Given the description of an element on the screen output the (x, y) to click on. 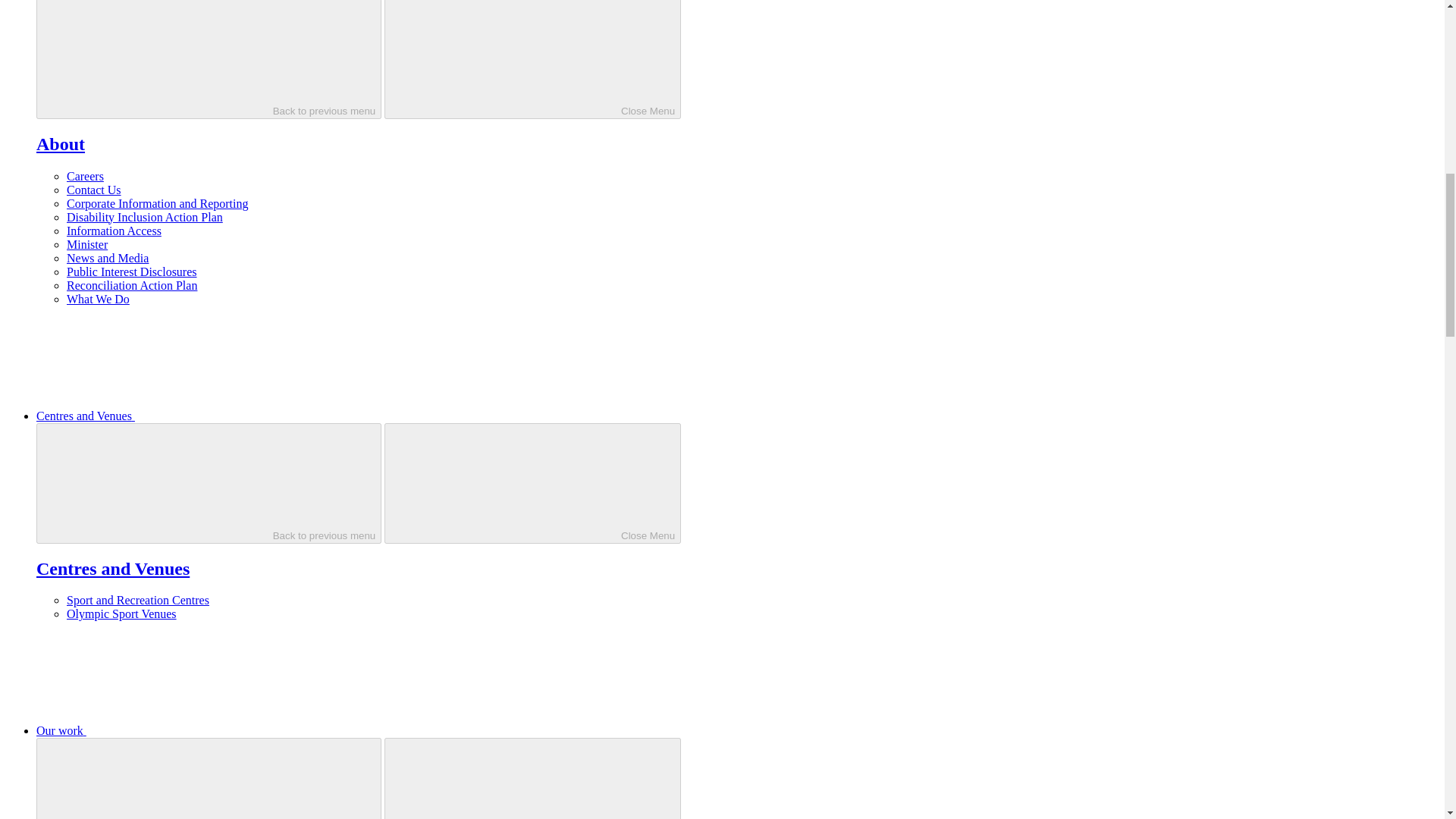
Disability Inclusion Action Plan (144, 216)
Public Interest Disclosures (131, 271)
Contact Us (93, 189)
Centres and Venues (112, 568)
Close Menu (532, 778)
Close Menu (532, 59)
Back to previous menu (208, 59)
Information Access (113, 230)
Corporate Information and Reporting (157, 203)
About (60, 143)
Reconciliation Action Plan (131, 285)
Careers (84, 175)
Olympic Sport Venues (121, 613)
Back to previous menu (208, 778)
News and Media (107, 257)
